Given the description of an element on the screen output the (x, y) to click on. 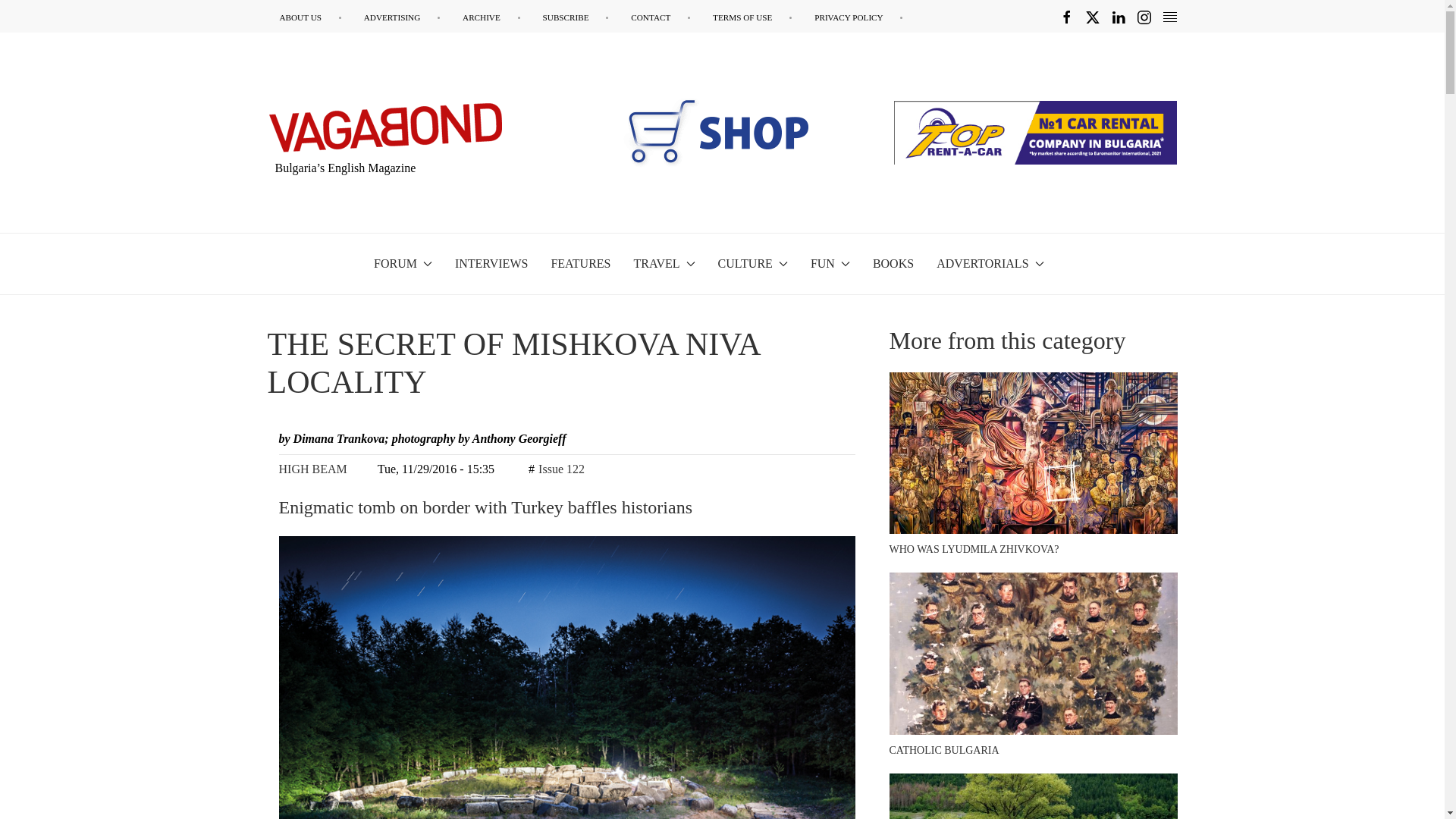
toprentacar (1034, 131)
ABOUT US (309, 17)
FUN (830, 263)
FEATURES (580, 263)
INTERVIEWS (490, 263)
SUBSCRIBE (575, 17)
TRAVEL (664, 263)
fsi books (705, 131)
ABOUT US (309, 17)
FEATURES (580, 263)
PRIVACY POLICY (857, 17)
FORUM (403, 263)
TERMS OF USE (752, 17)
CONTACT (660, 17)
toprentacar (1034, 132)
